Given the description of an element on the screen output the (x, y) to click on. 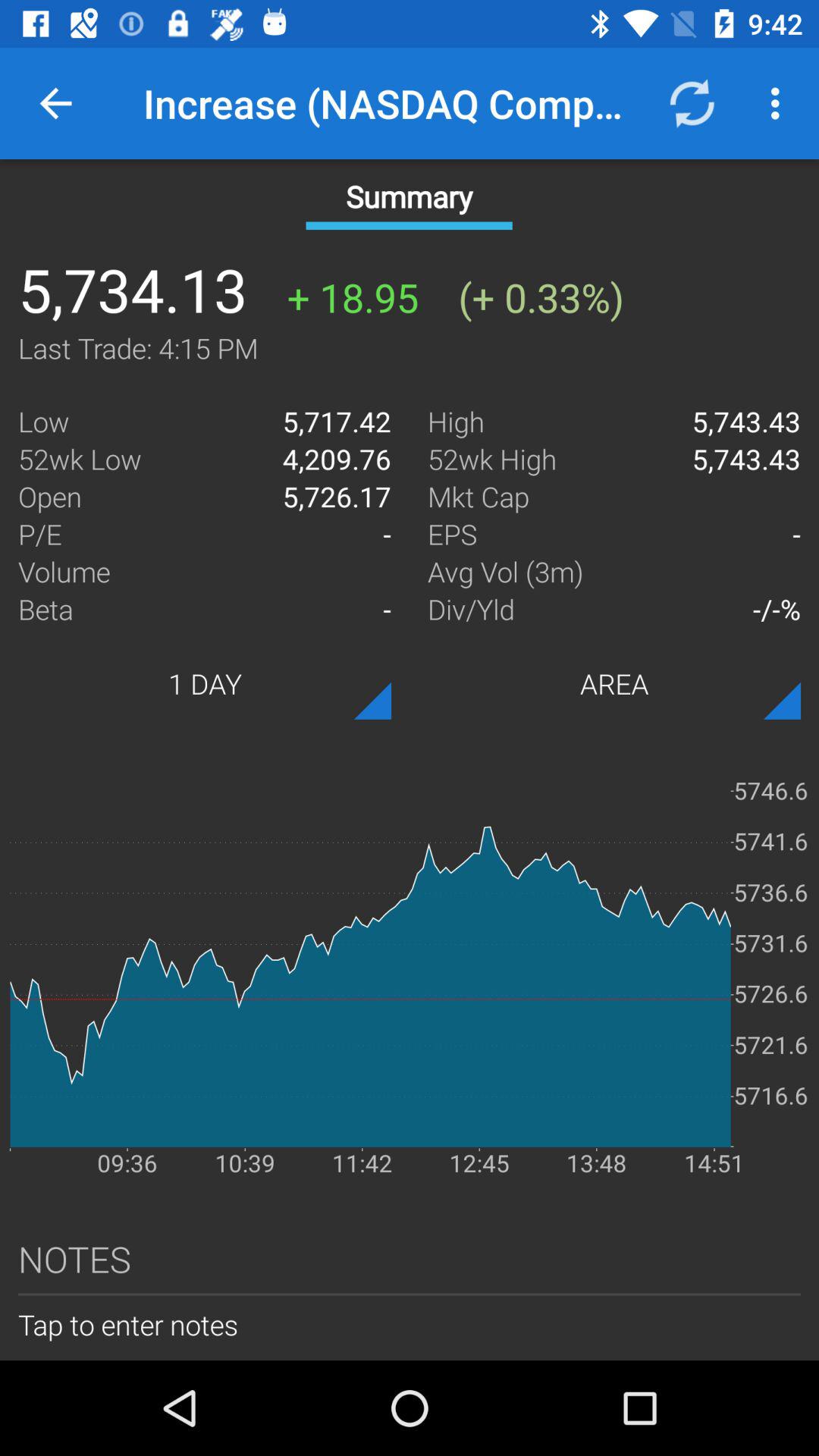
tap the item to the left of the increase (nasdaq composite) icon (55, 103)
